Given the description of an element on the screen output the (x, y) to click on. 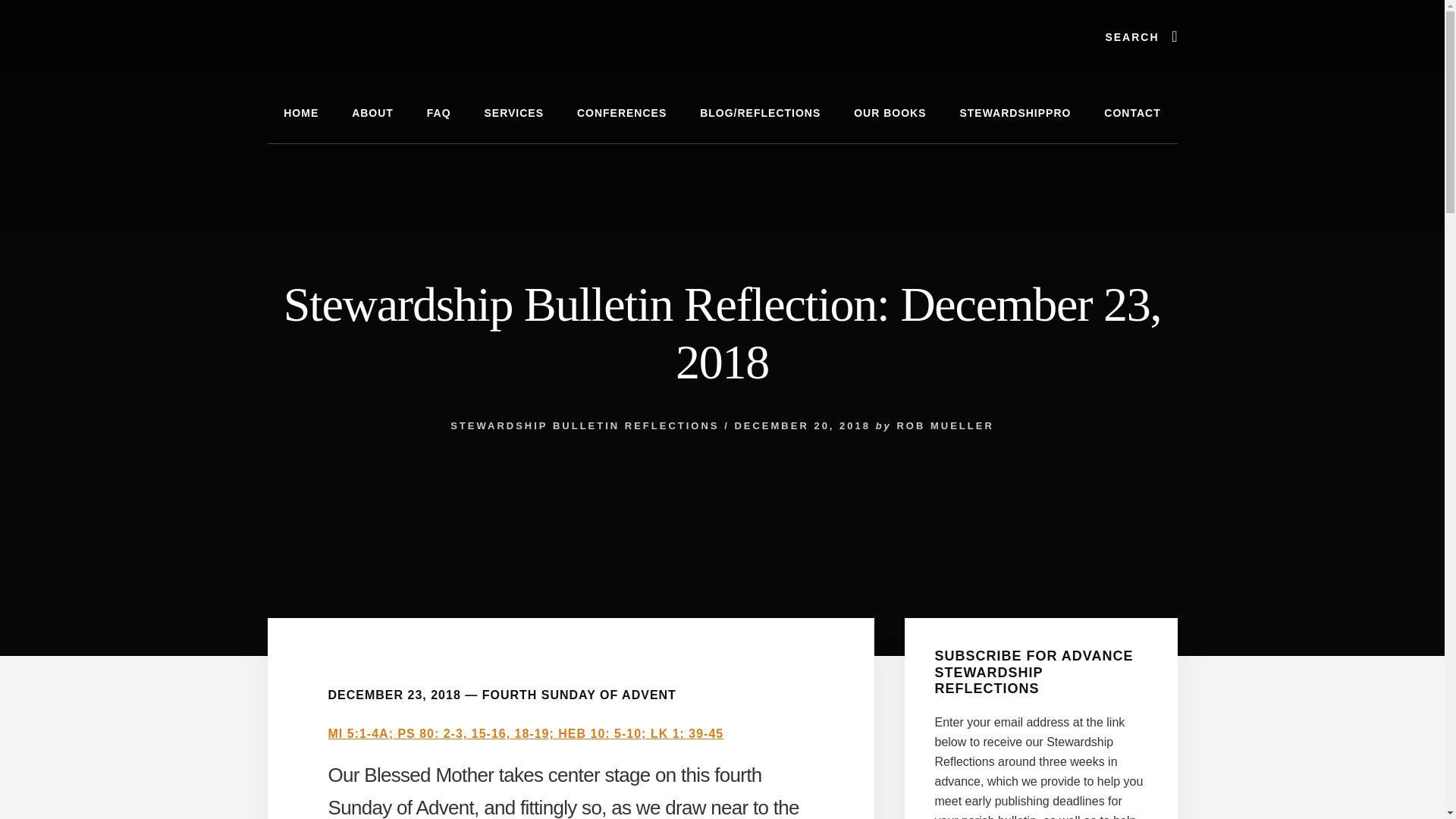
ABOUT (372, 113)
SERVICES (513, 113)
ROB MUELLER (944, 425)
CONTACT (1131, 113)
FAQ (438, 113)
STEWARDSHIPPRO (1014, 113)
OUR BOOKS (889, 113)
